Given the description of an element on the screen output the (x, y) to click on. 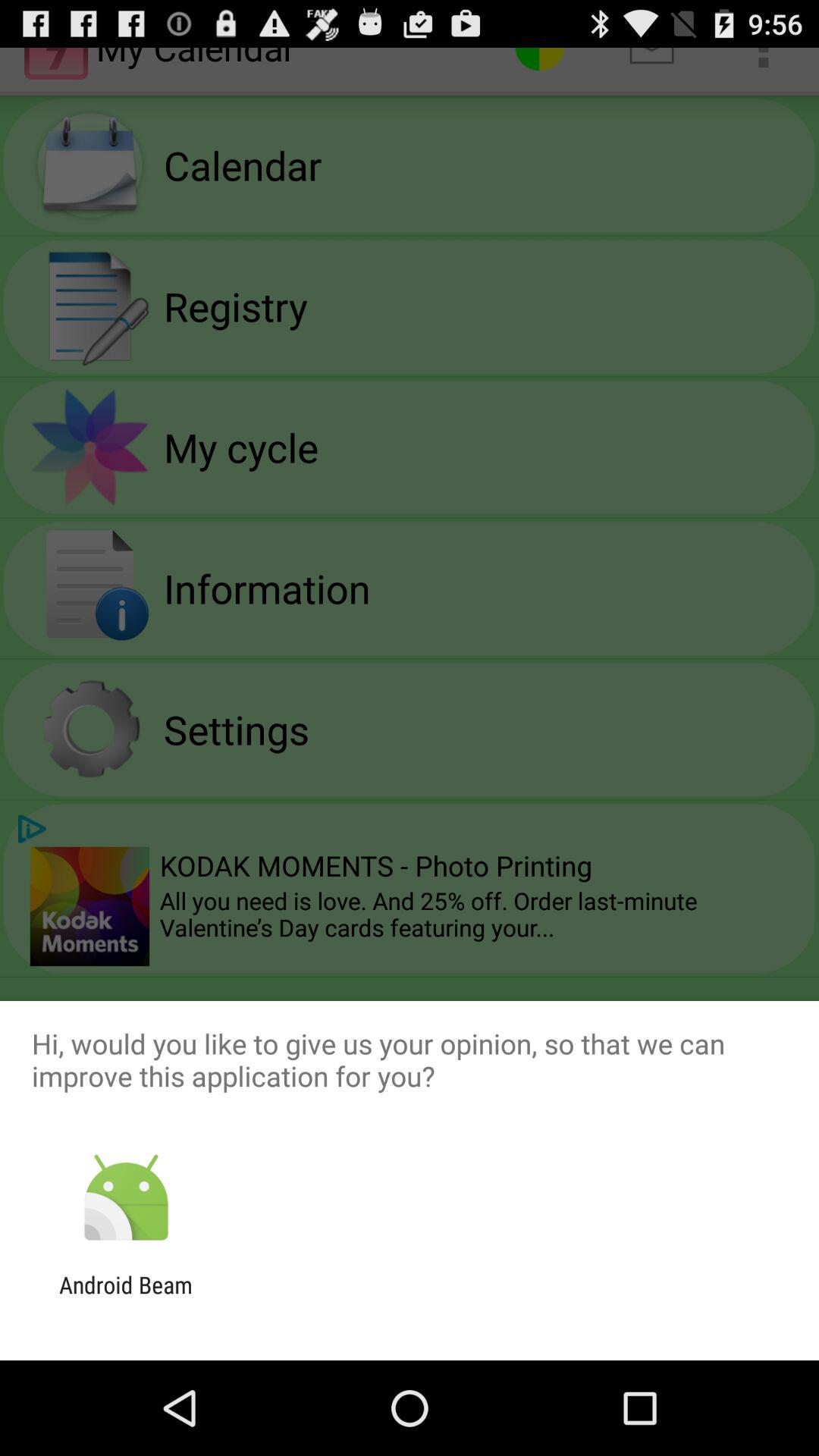
tap the android beam app (125, 1298)
